Given the description of an element on the screen output the (x, y) to click on. 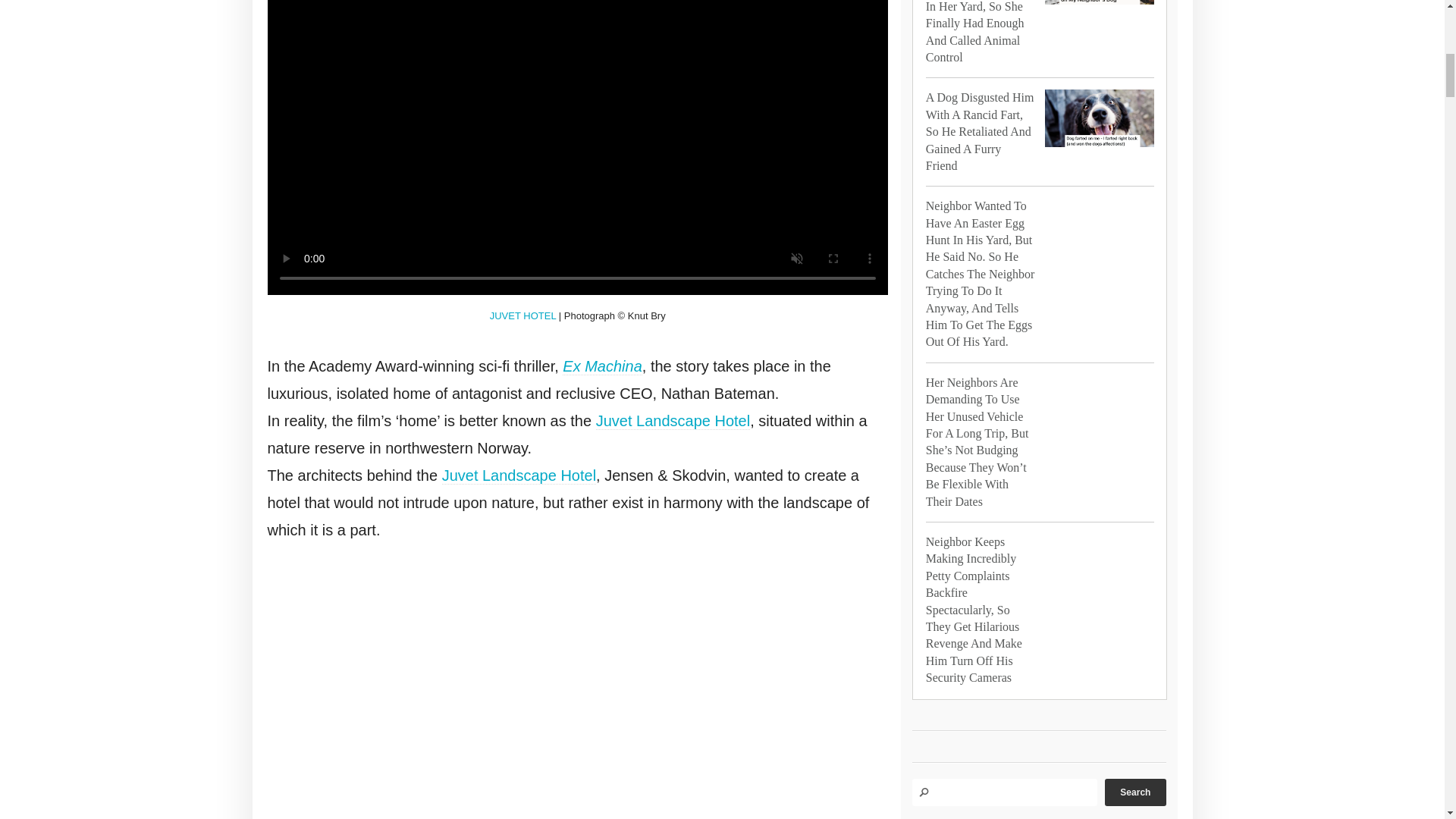
JUVET HOTEL (522, 315)
Juvet Landscape Hotel (518, 475)
Search (1135, 791)
Juvet Landscape Hotel (672, 420)
Ex Machina (602, 366)
